Given the description of an element on the screen output the (x, y) to click on. 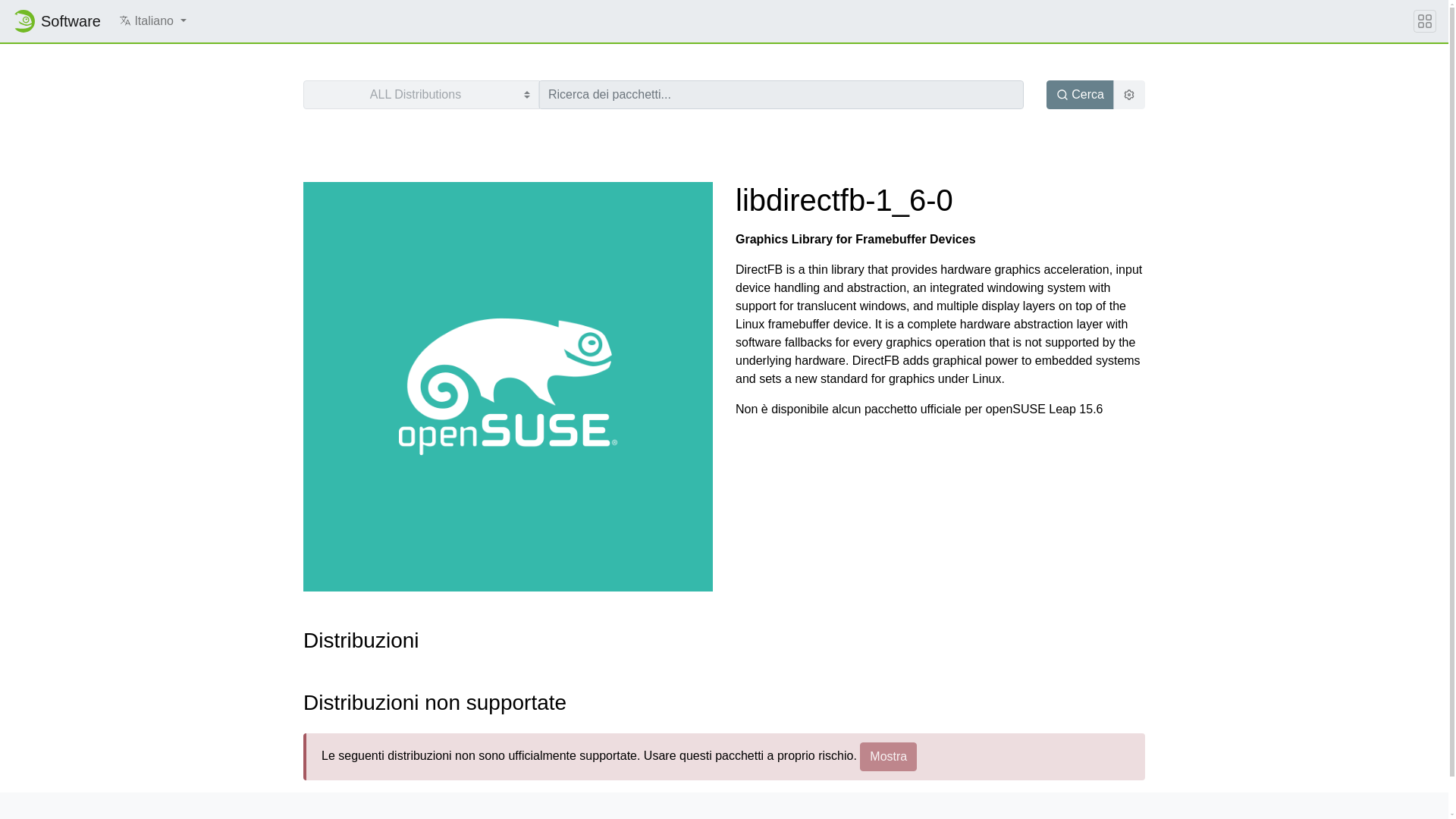
Choose Locale (125, 20)
openSUSE (22, 20)
Expand Megamenu (1424, 20)
Software (55, 20)
Choose Locale Italiano (152, 20)
